Given the description of an element on the screen output the (x, y) to click on. 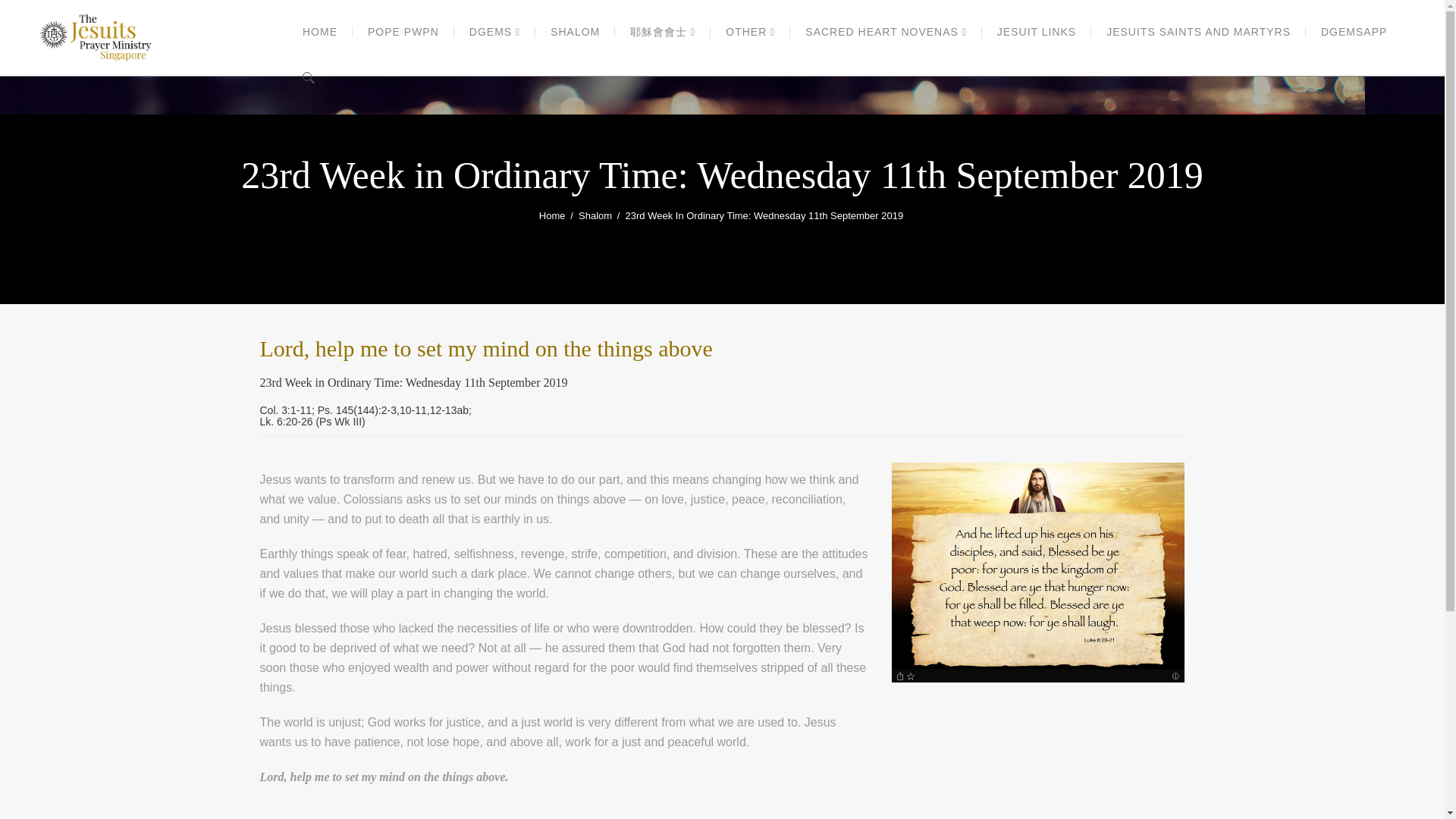
blessedness (1038, 572)
SHALOM (575, 31)
JESUIT LINKS (1036, 31)
DGEMSAPP (1353, 31)
OTHER (750, 32)
Search (1177, 43)
Shalom (594, 216)
Home (552, 216)
POPE PWPN (402, 31)
DGEMS (494, 32)
